Given the description of an element on the screen output the (x, y) to click on. 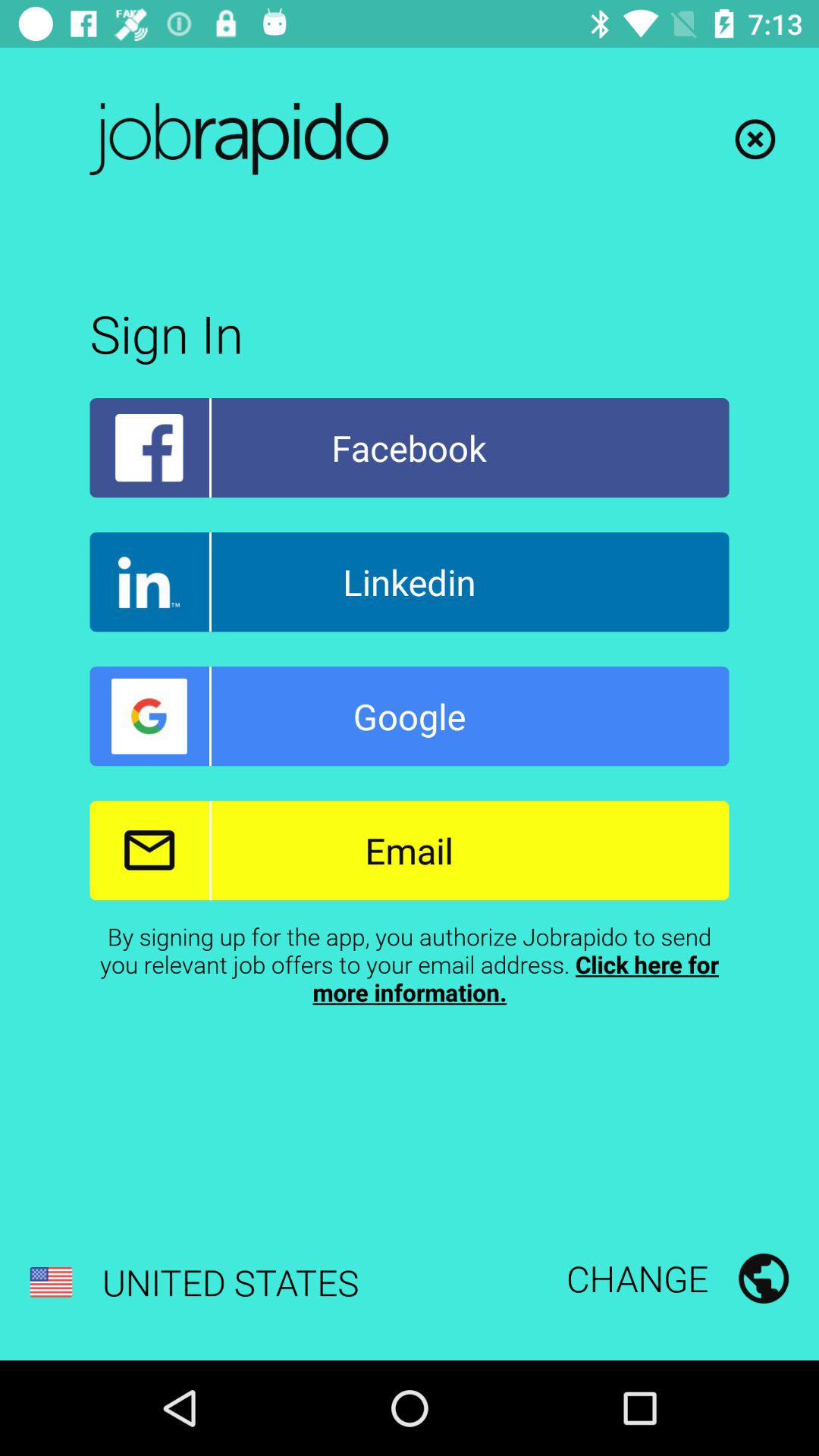
scroll to united states item (194, 1282)
